Given the description of an element on the screen output the (x, y) to click on. 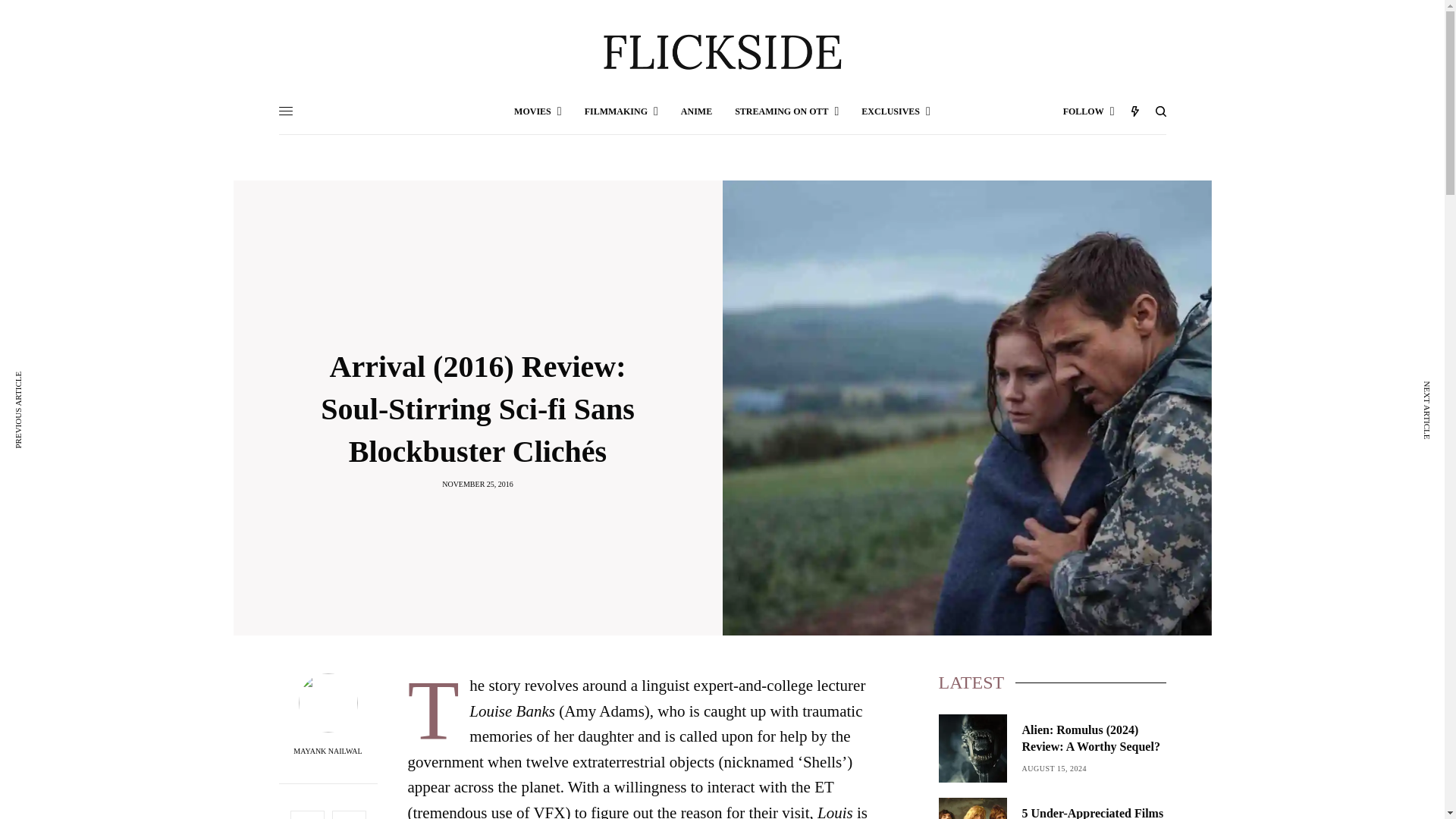
EXCLUSIVES (895, 111)
Flickside (722, 53)
FOLLOW (1088, 111)
FILMMAKING (621, 111)
5 Under-Appreciated Films From 1984 (1094, 812)
STREAMING ON OTT (786, 111)
MOVIES (537, 111)
